Given the description of an element on the screen output the (x, y) to click on. 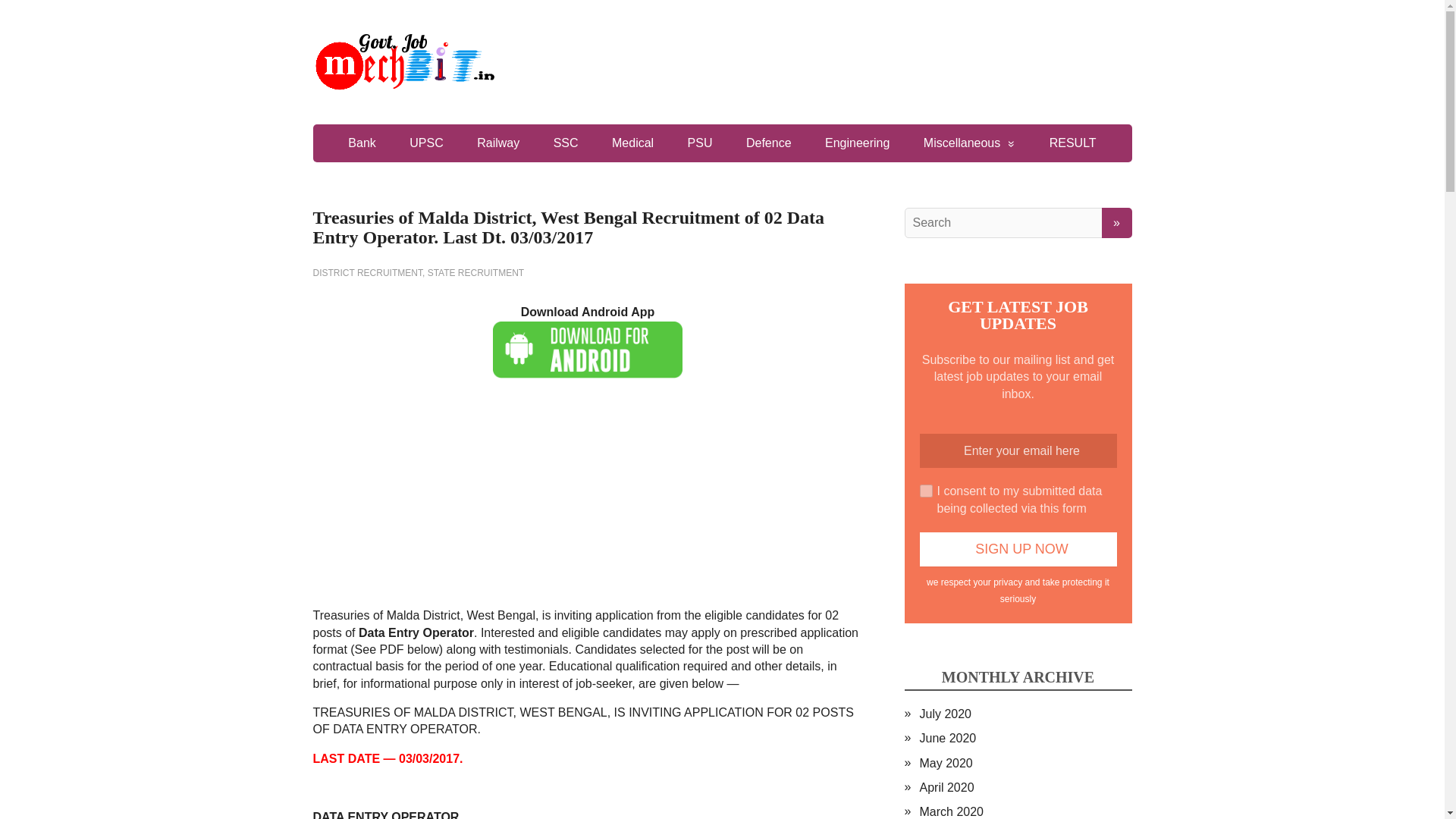
STATE RECRUITMENT (476, 272)
DISTRICT RECRUITMENT (367, 272)
Govtjob (722, 61)
Engineering (856, 143)
SSC (566, 143)
on (924, 490)
PSU (700, 143)
Miscellaneous (969, 143)
May 2020 (945, 762)
Sign Up Now (1017, 549)
Railway (497, 143)
Medical (632, 143)
Defence (768, 143)
RESULT (1072, 143)
Bank (361, 143)
